Given the description of an element on the screen output the (x, y) to click on. 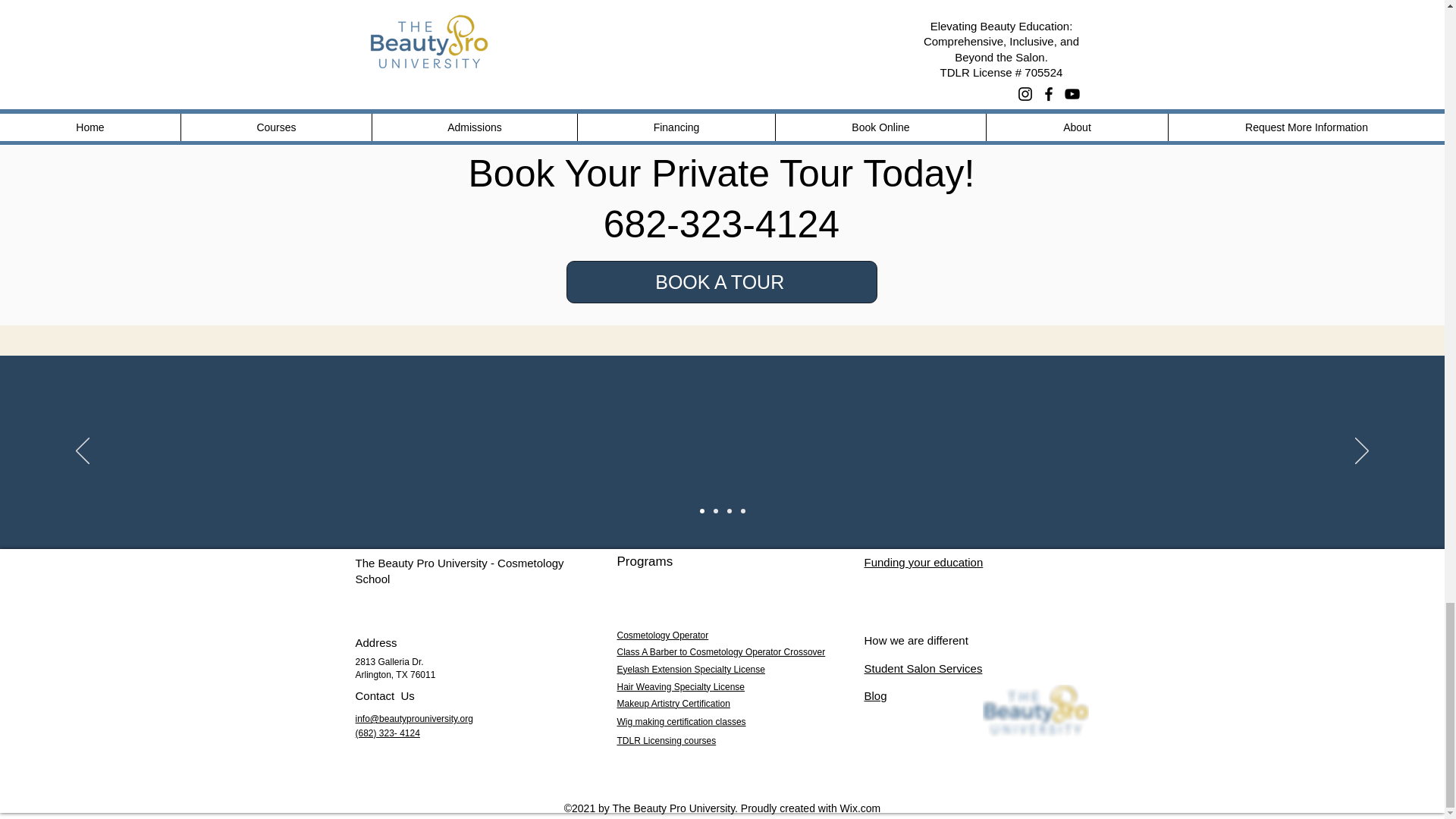
Class A Barber to Cosmetology Operator Crossover (721, 652)
Wig making certification classes (681, 721)
Funding your education (924, 562)
Cosmetology Operator (663, 634)
Eyelash Extension Specialty License (691, 669)
TDLR Licensing courses (666, 740)
BOOK A TOUR (721, 282)
Makeup Artistry Certification (673, 703)
Hair Weaving Specialty License (681, 686)
